Given the description of an element on the screen output the (x, y) to click on. 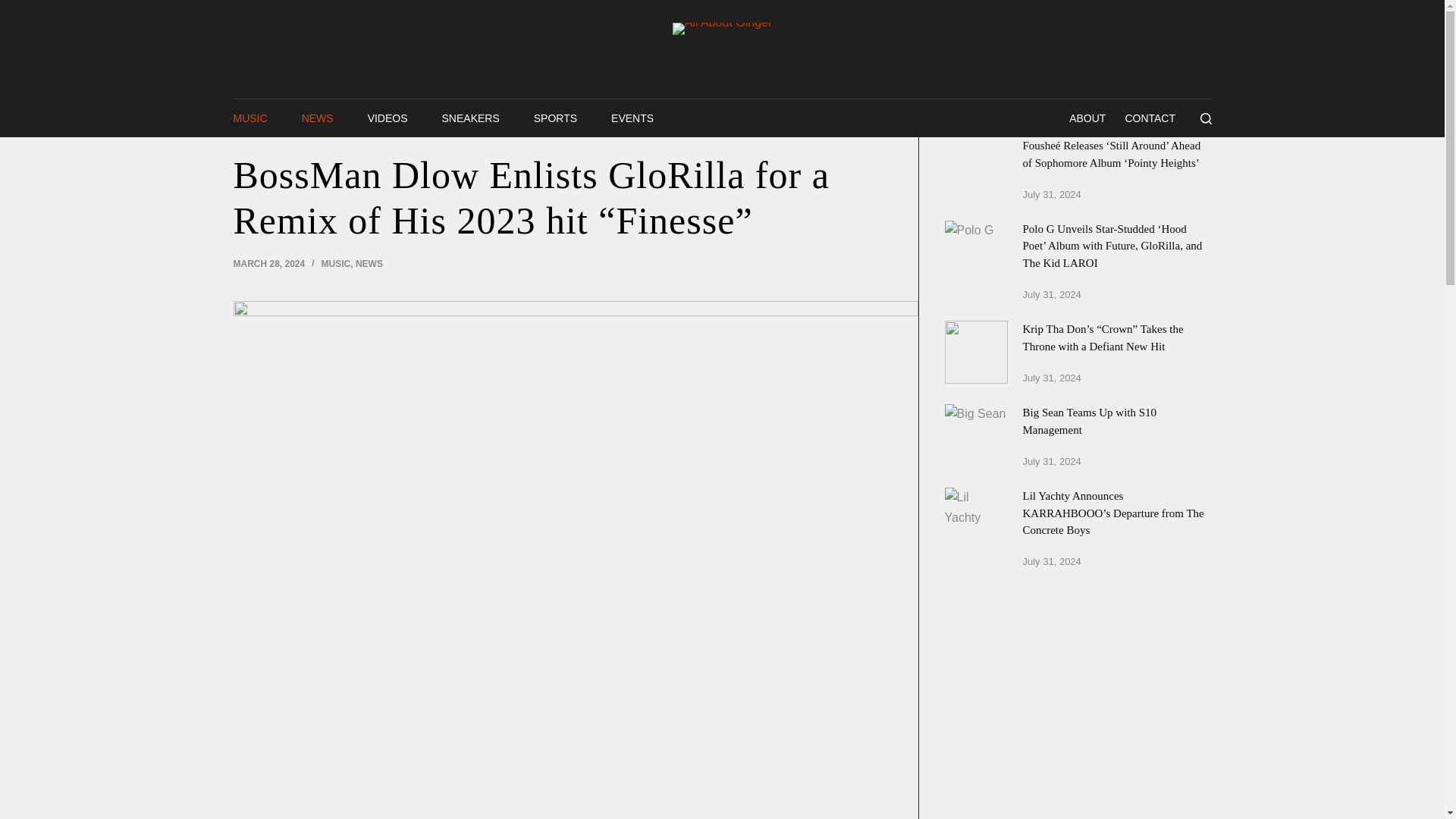
VIDEOS (387, 117)
CONTACT (1150, 118)
NEWS (368, 263)
Skip to content (15, 7)
ABOUT (1087, 118)
SPORTS (555, 117)
EVENTS (632, 117)
MUSIC (335, 263)
MUSIC (255, 117)
SNEAKERS (470, 117)
NEWS (317, 117)
